Given the description of an element on the screen output the (x, y) to click on. 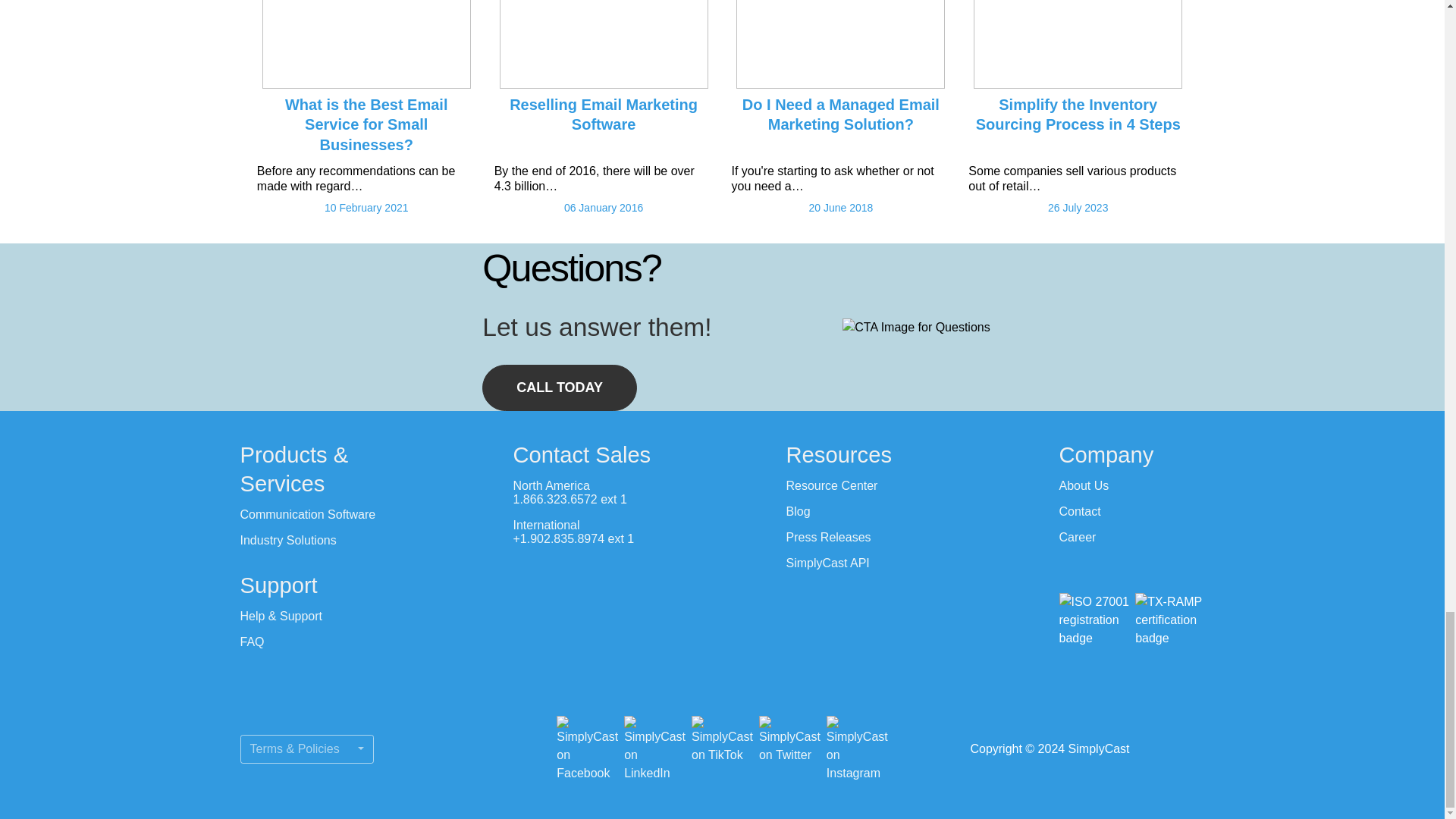
SimplyCast on LinkedIn (654, 748)
SimplyCast on TikTok (721, 748)
SimplyCast on Instagram (857, 748)
SimplyCast on Twitter (789, 748)
SimplyCast on Facebook (586, 748)
